Given the description of an element on the screen output the (x, y) to click on. 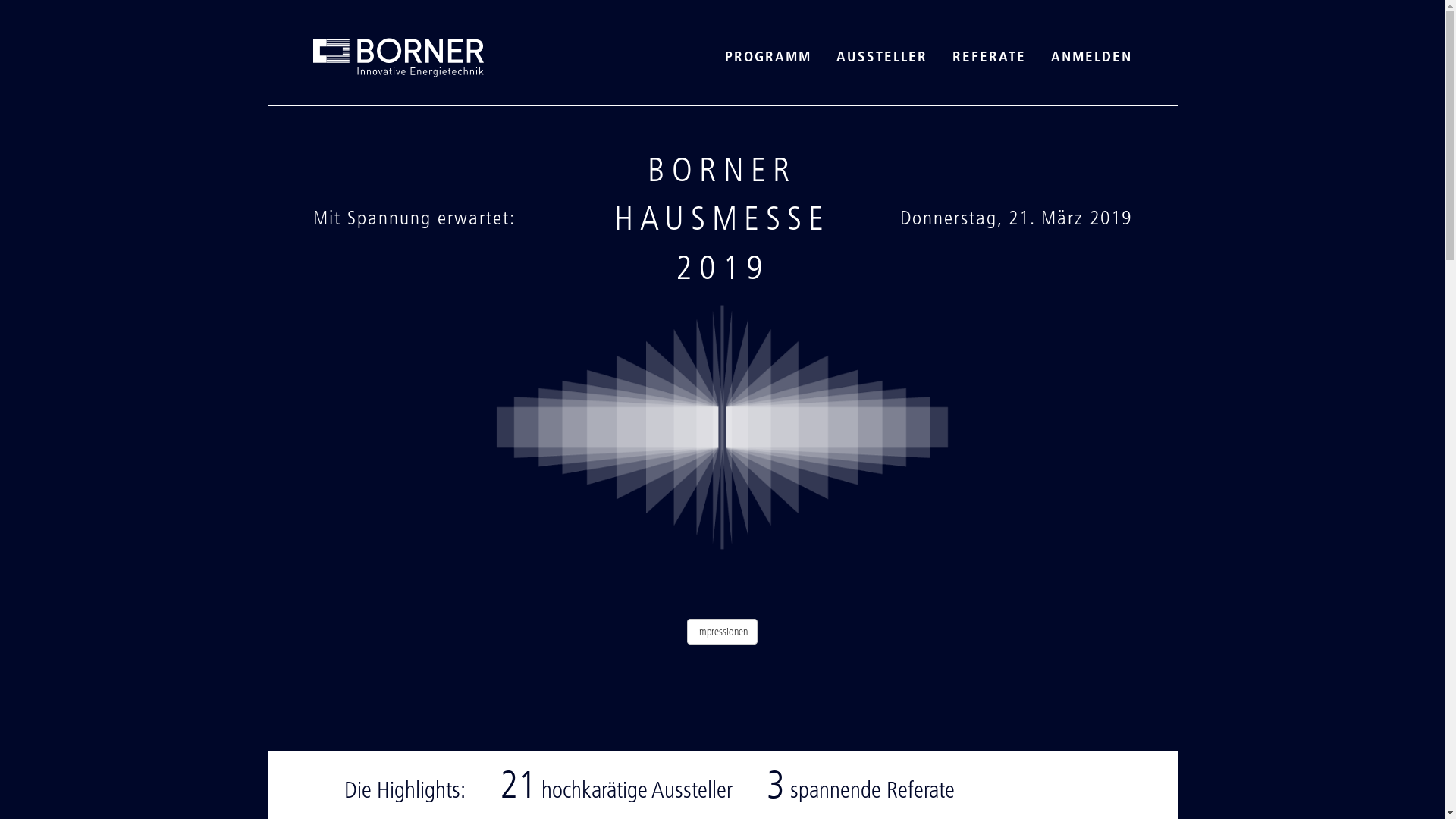
REFERATE Element type: text (989, 56)
AUSSTELLER Element type: text (880, 56)
PROGRAMM Element type: text (767, 56)
Impressionen Element type: text (722, 631)
ANMELDEN Element type: text (1091, 56)
